Given the description of an element on the screen output the (x, y) to click on. 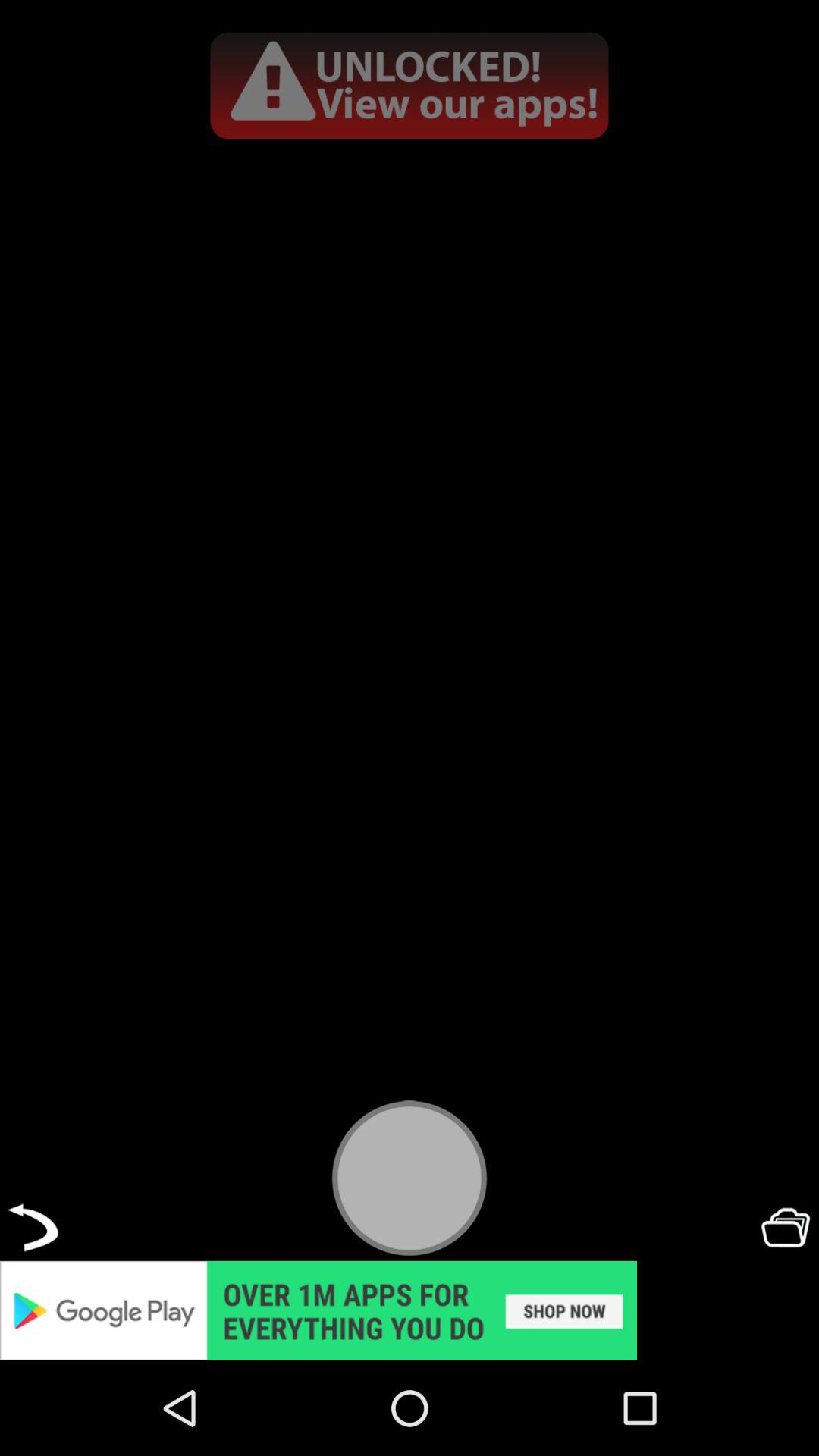
open gallery (785, 1227)
